Given the description of an element on the screen output the (x, y) to click on. 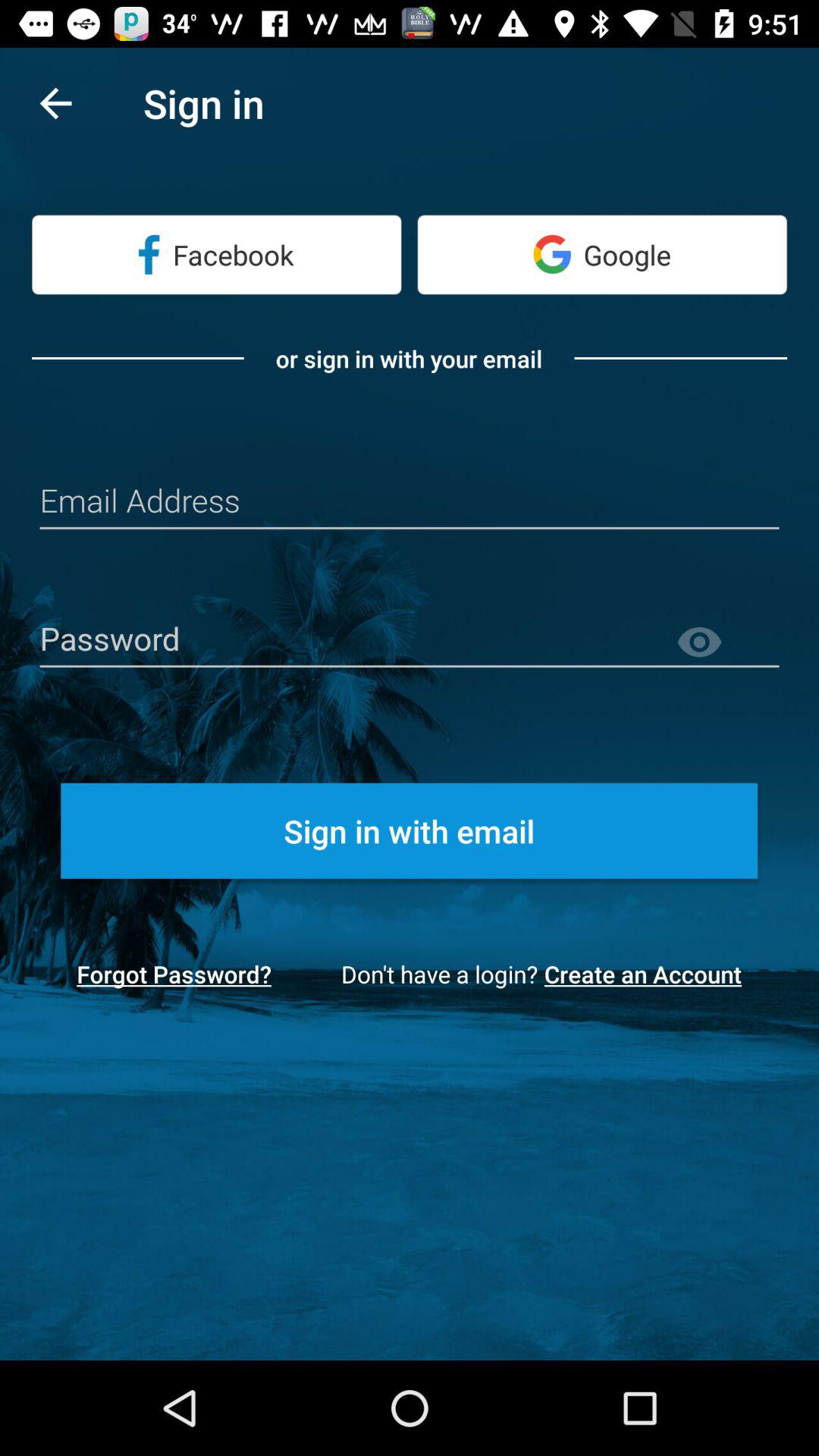
insert password (409, 640)
